Given the description of an element on the screen output the (x, y) to click on. 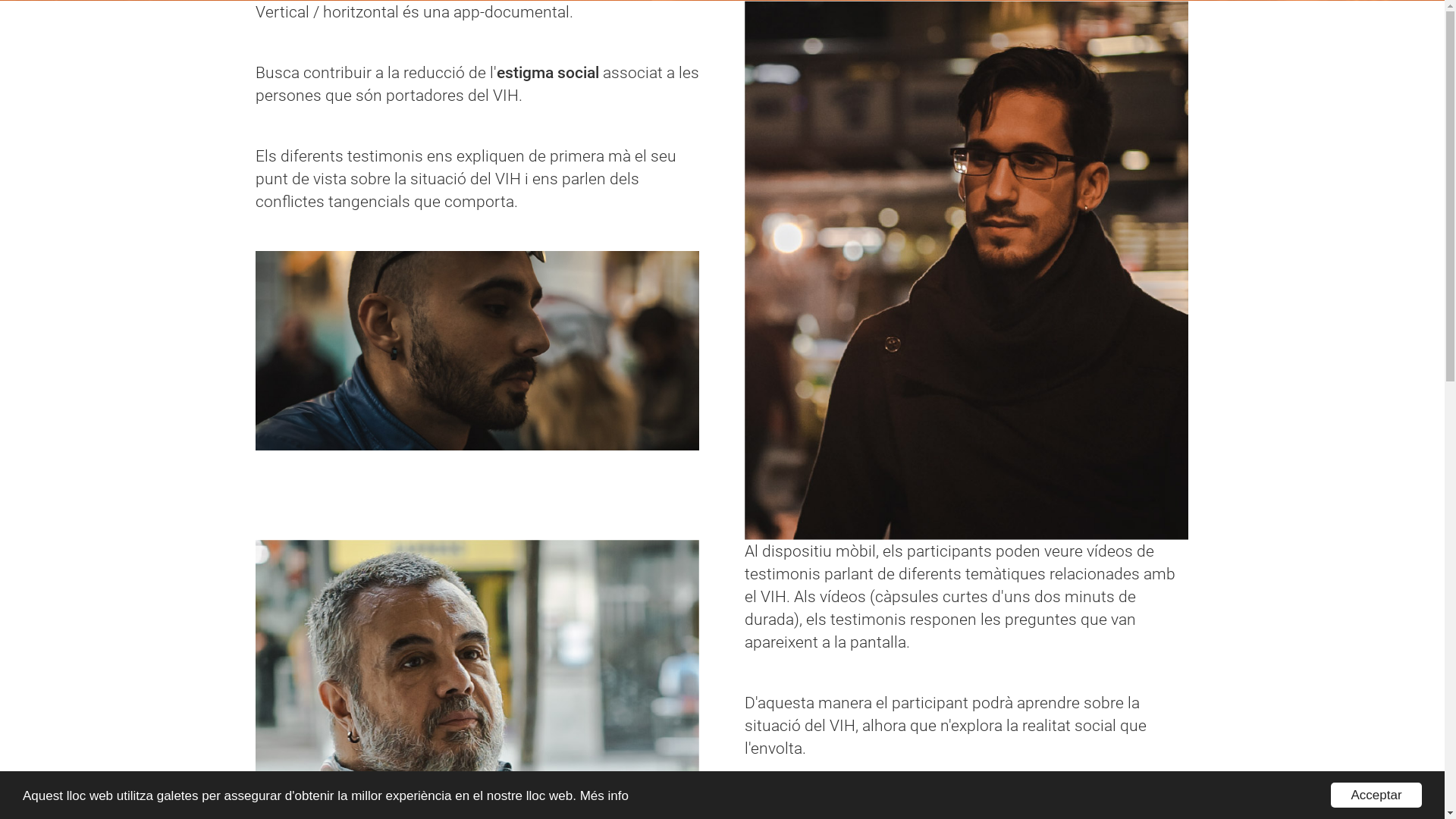
cat Element type: text (1338, 26)
esp Element type: text (1376, 26)
eng Element type: text (1415, 26)
Relabtive Element type: text (845, 502)
Acceptar Element type: text (1375, 794)
vertical / horitzontal Element type: hover (721, 407)
Factual Films Element type: text (754, 502)
